Given the description of an element on the screen output the (x, y) to click on. 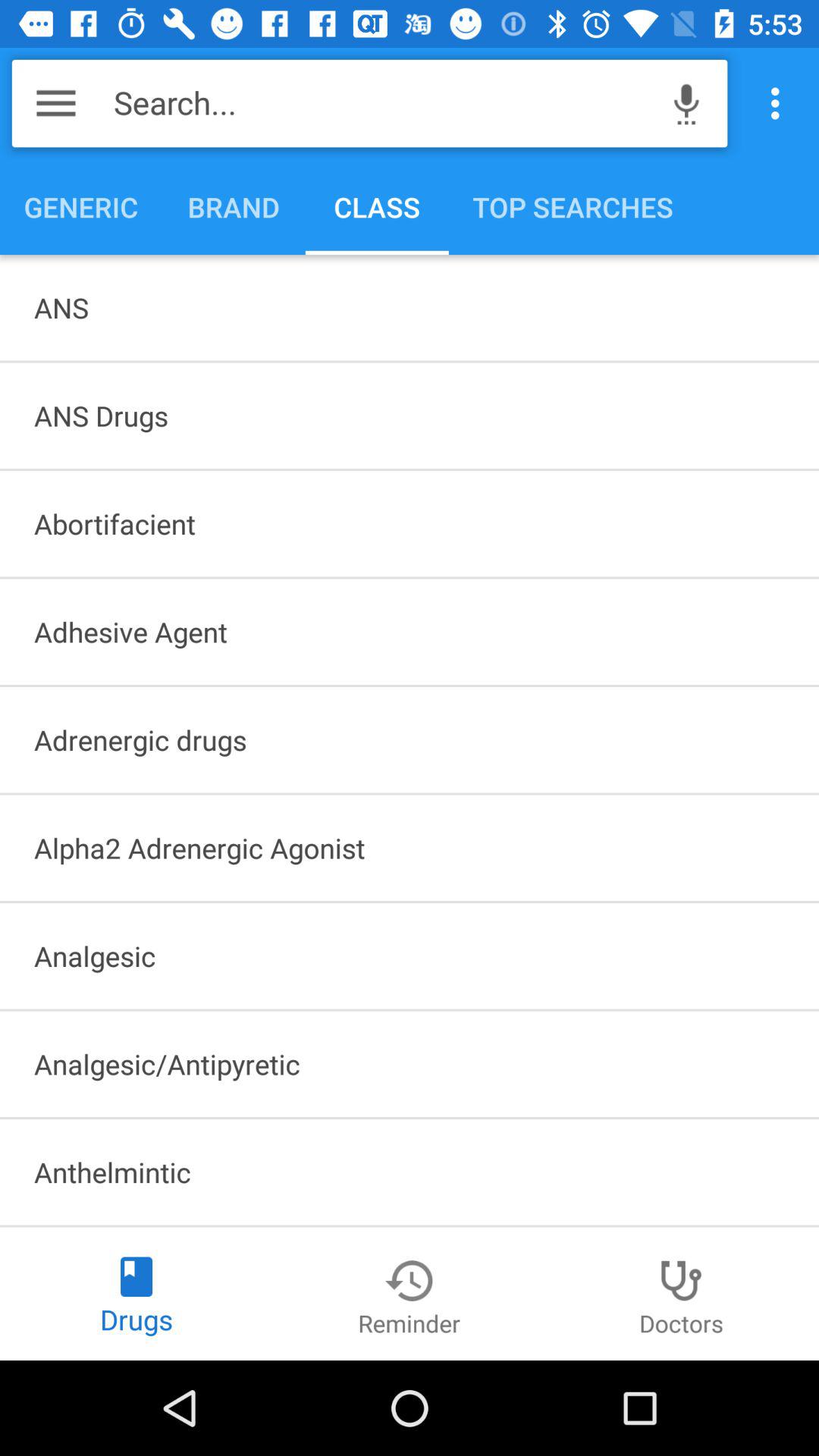
select the icon above alpha2 adrenergic agonist (409, 739)
